Given the description of an element on the screen output the (x, y) to click on. 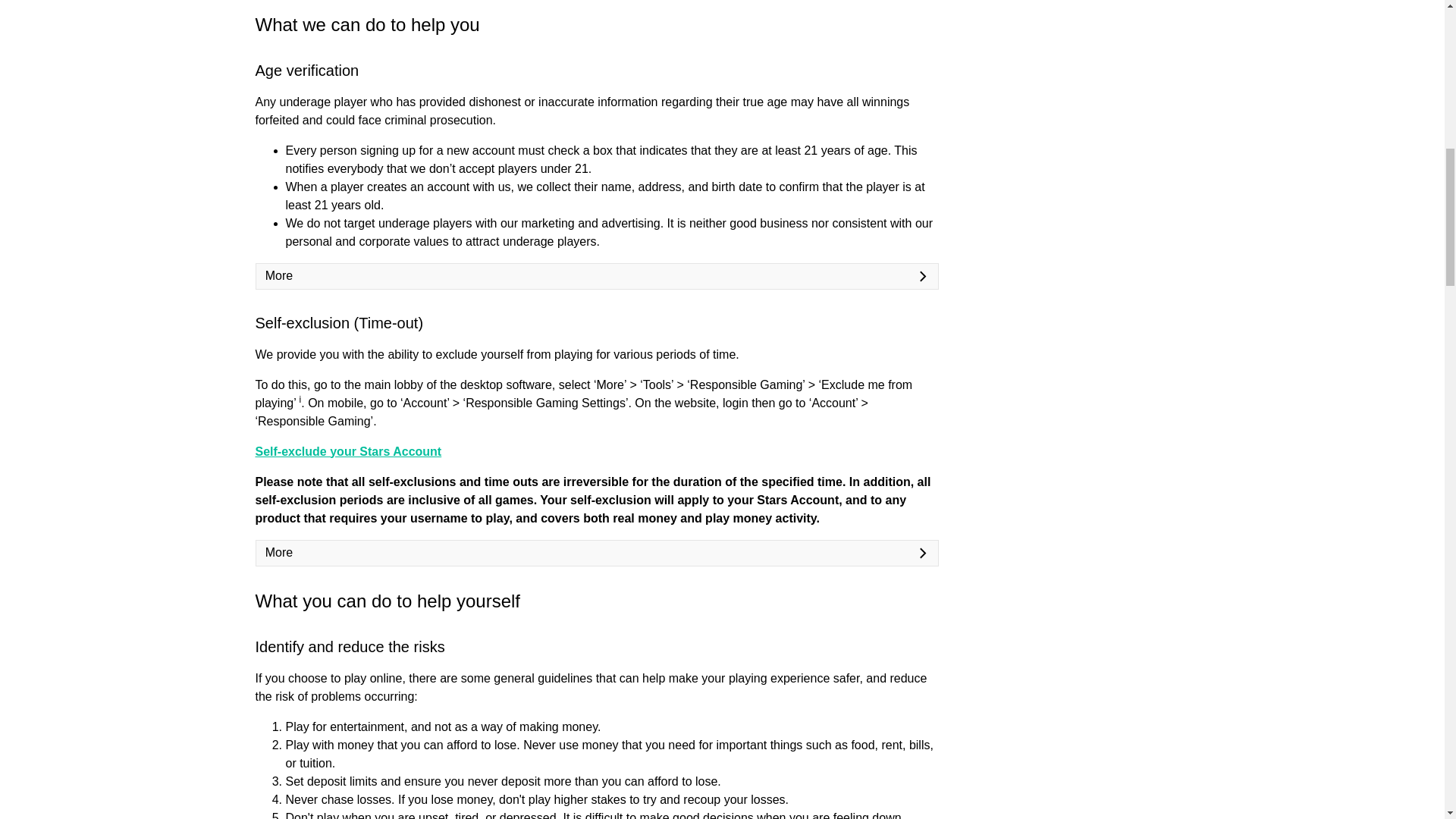
More (597, 276)
